Given the description of an element on the screen output the (x, y) to click on. 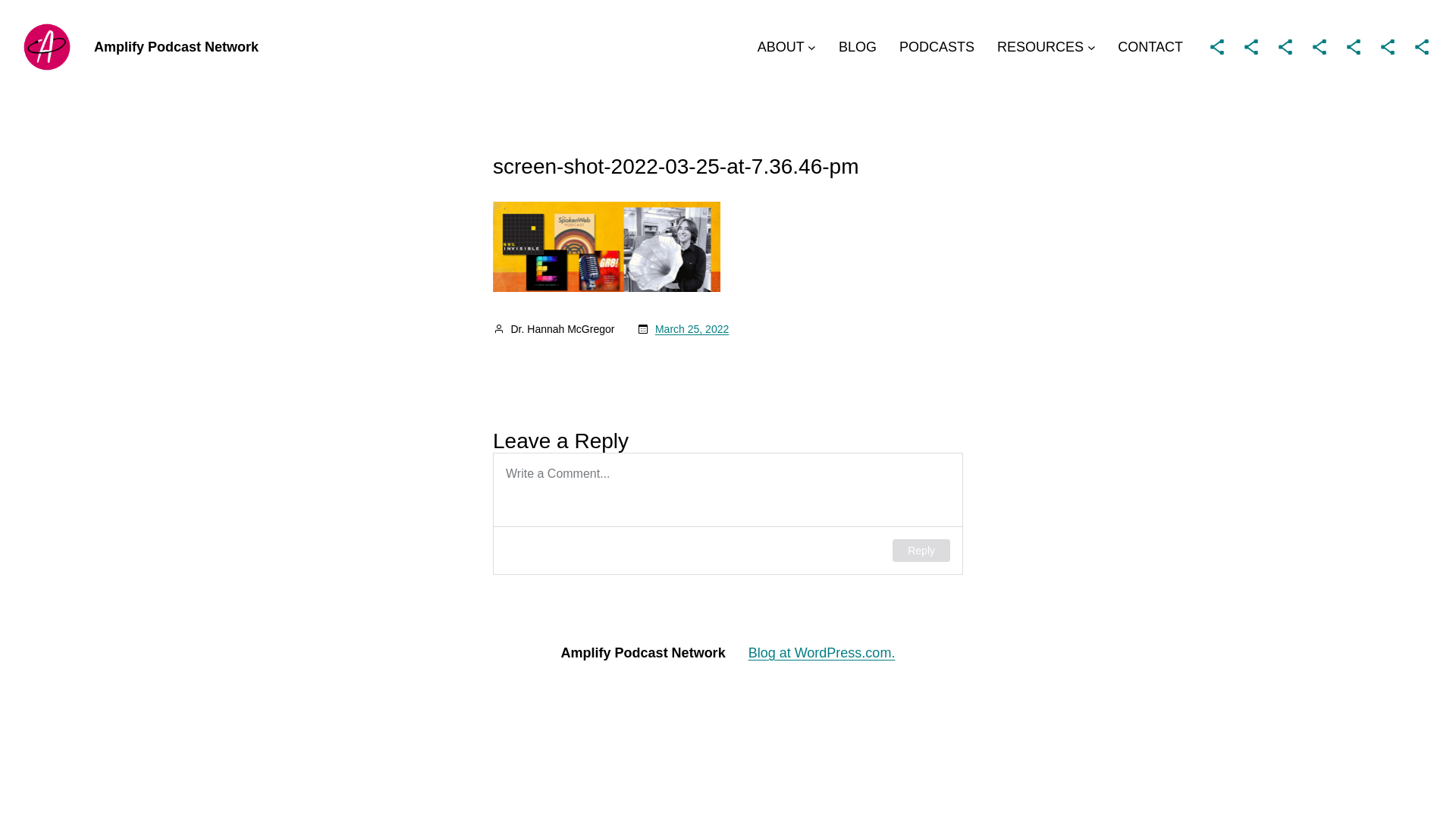
Share Icon Element type: text (1285, 46)
CONTACT Element type: text (1150, 47)
Share Icon Element type: text (1319, 46)
Amplify Podcast Network Element type: text (176, 46)
RESOURCES Element type: text (1040, 47)
Share Icon Element type: text (1250, 46)
Share Icon Element type: text (1421, 46)
Blog at WordPress.com. Element type: text (821, 652)
ABOUT Element type: text (780, 47)
Share Icon Element type: text (1387, 46)
Share Icon Element type: text (1353, 46)
Comment Form Element type: hover (727, 513)
March 25, 2022 Element type: text (691, 329)
BLOG Element type: text (857, 47)
PODCASTS Element type: text (936, 47)
Amplify Podcast Network Element type: text (643, 652)
Share Icon Element type: text (1216, 46)
